Given the description of an element on the screen output the (x, y) to click on. 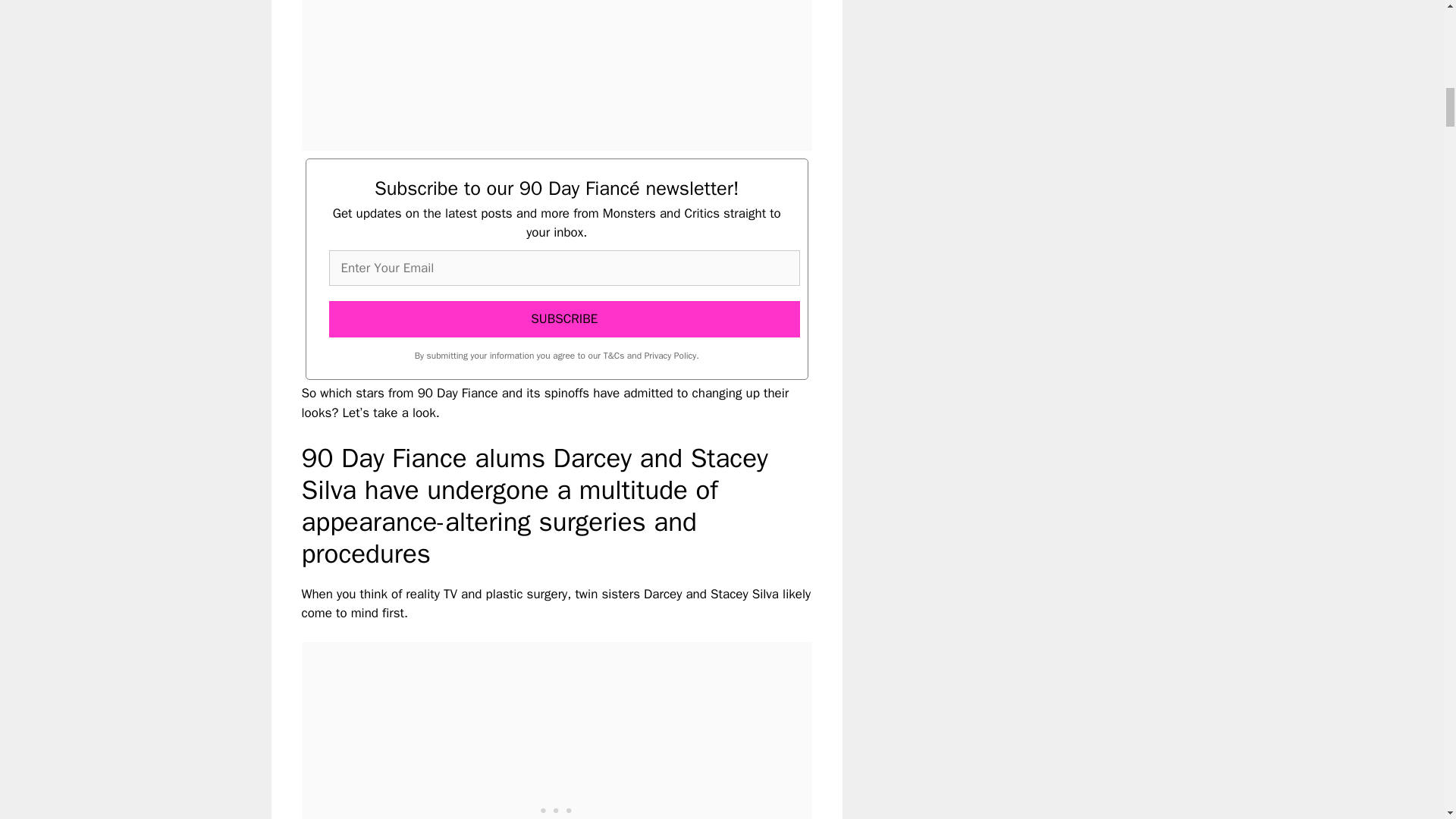
SUBSCRIBE (564, 319)
SUBSCRIBE (564, 319)
